Given the description of an element on the screen output the (x, y) to click on. 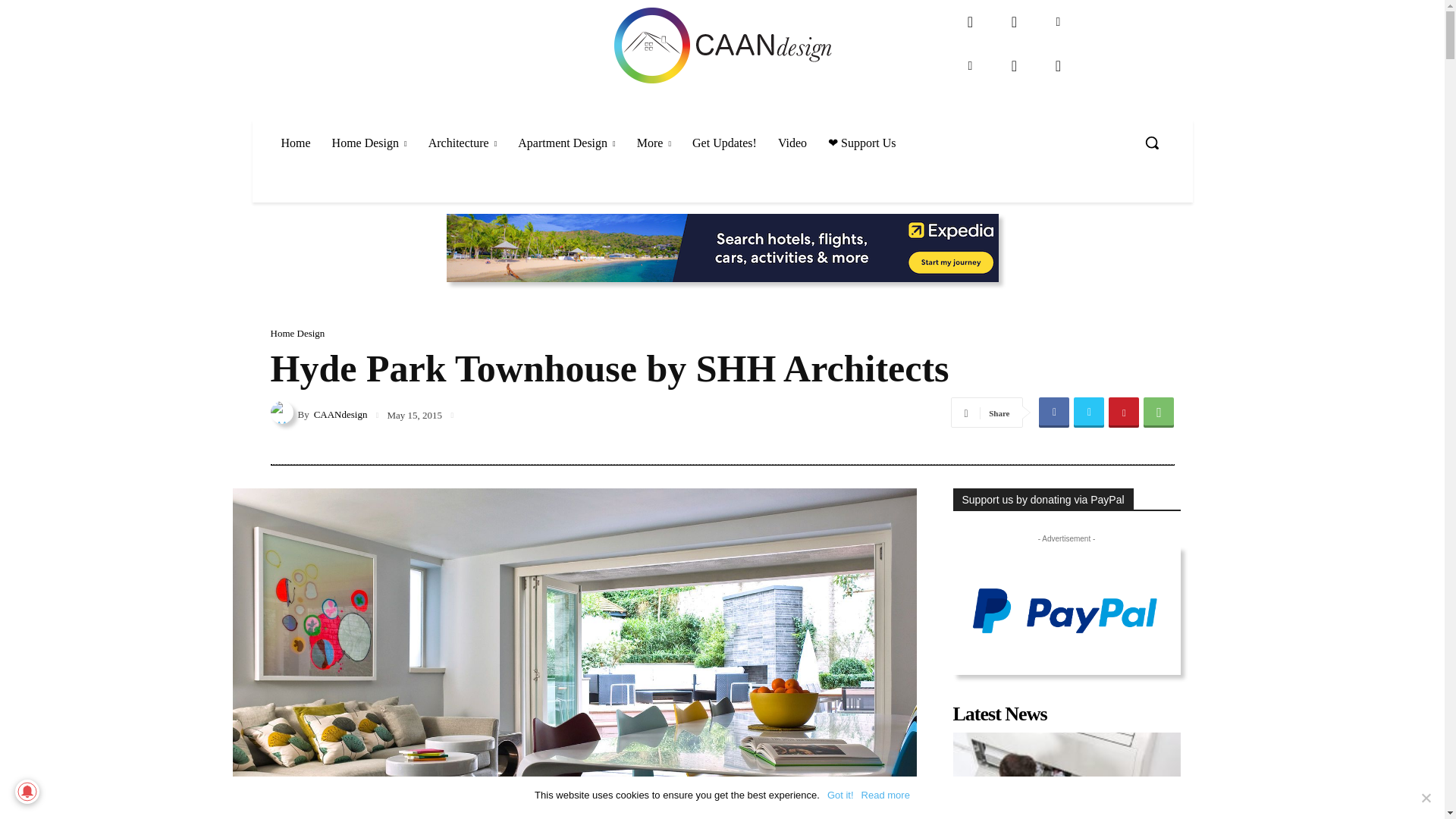
Home Design (369, 142)
architecture and home design website (721, 45)
Instagram (1013, 22)
Facebook (970, 22)
architecture and home design website (722, 45)
Home (294, 142)
